Given the description of an element on the screen output the (x, y) to click on. 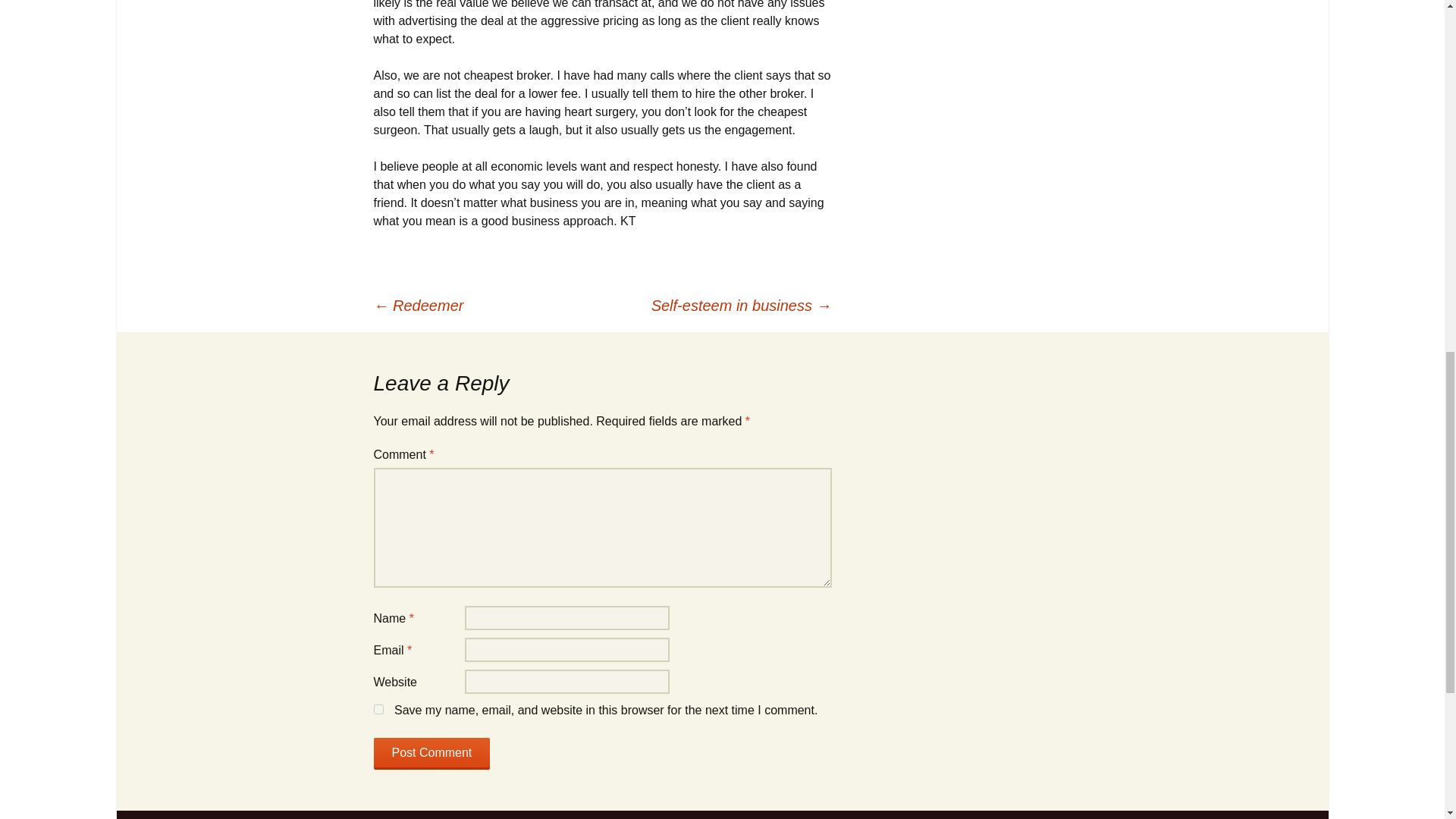
yes (377, 709)
Post Comment (430, 753)
Post Comment (430, 753)
